Given the description of an element on the screen output the (x, y) to click on. 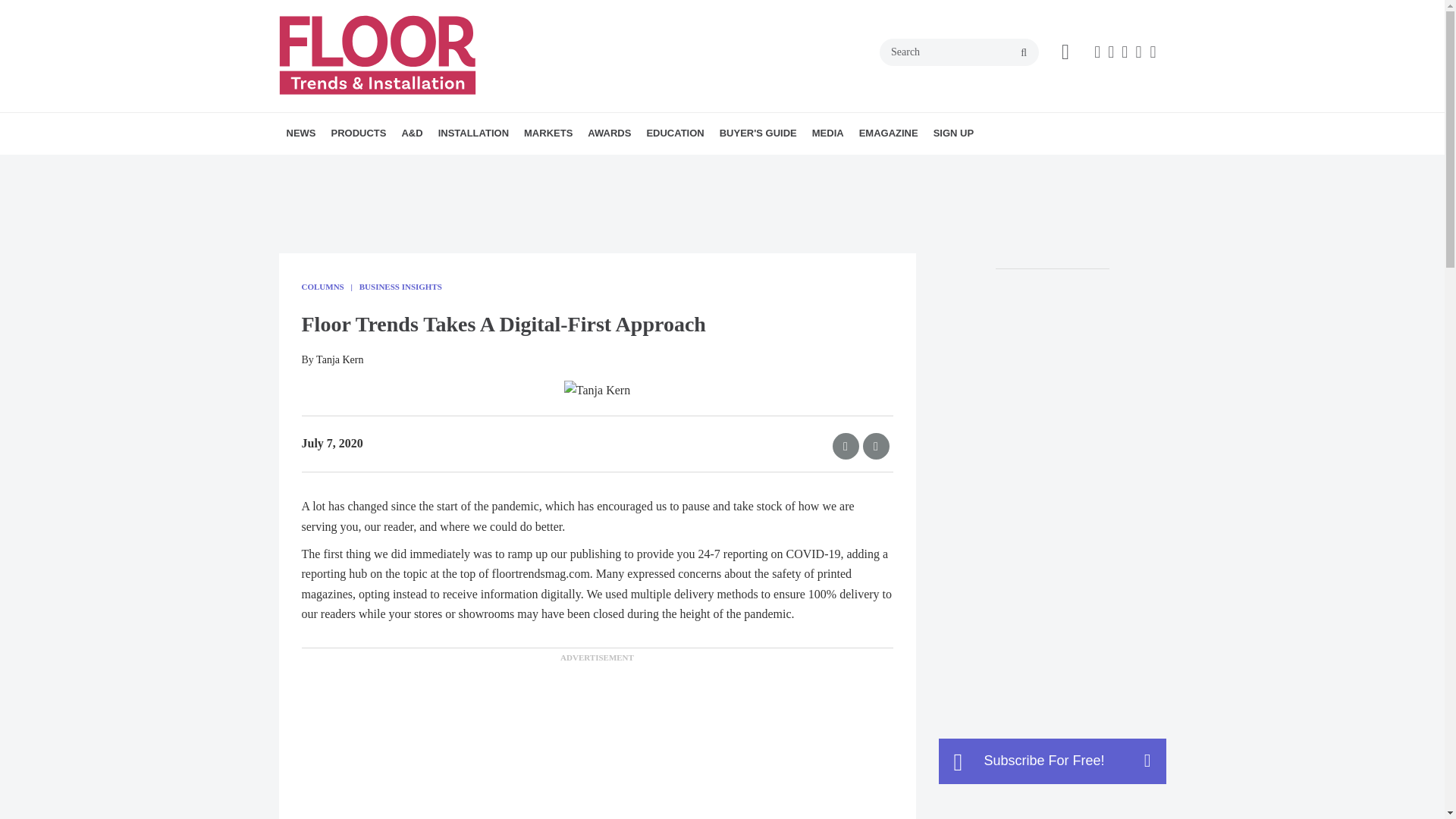
INSTALLATION AWARDS (674, 166)
INSTALLATION (473, 133)
Search (959, 52)
TOP FLOORING PRODUCTS (682, 166)
CONTINUING EDUCATION (733, 166)
PRODUCTS (358, 133)
RESILIENT (448, 166)
search (1023, 52)
LAMINATE (443, 166)
HARDWOOD (424, 166)
